Given the description of an element on the screen output the (x, y) to click on. 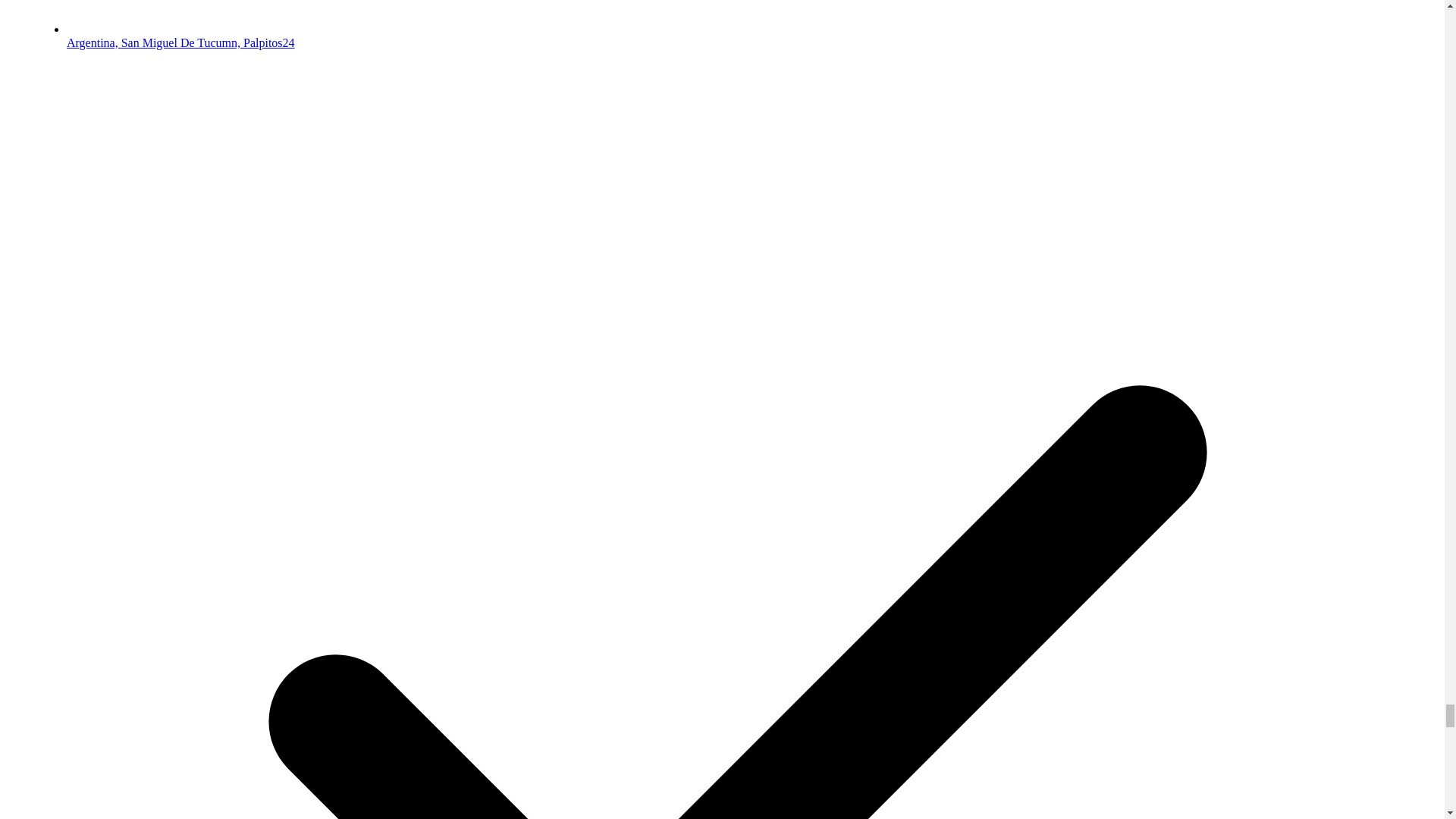
Argentina, San Miguel De Tucumn, Palpitos24 (180, 42)
